Given the description of an element on the screen output the (x, y) to click on. 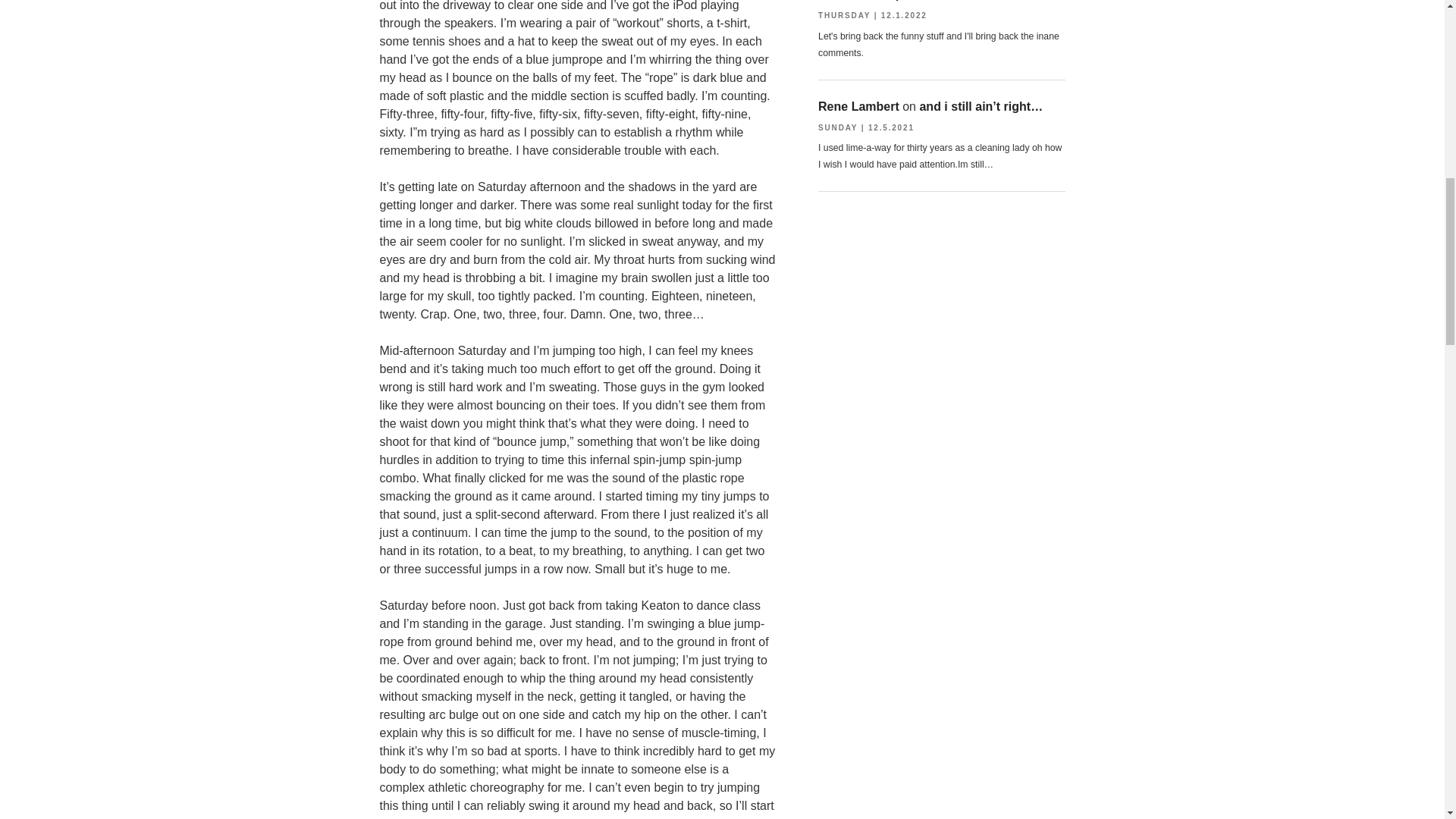
Rene Lambert (858, 106)
